Given the description of an element on the screen output the (x, y) to click on. 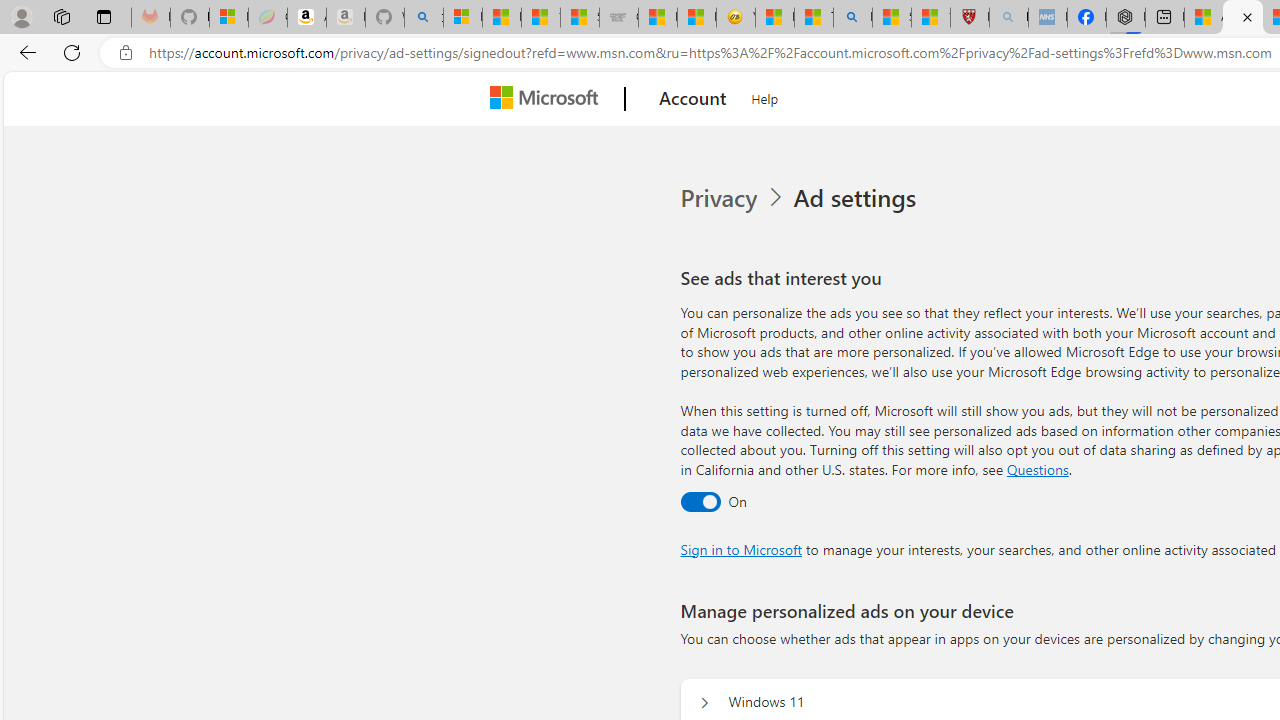
Combat Siege (618, 17)
Nordace - Nordace Siena Is Not An Ordinary Backpack (1126, 17)
12 Popular Science Lies that Must be Corrected (930, 17)
NCL Adult Asthma Inhaler Choice Guideline - Sleeping (1048, 17)
Ad settings toggle (699, 501)
Manage personalized ads on your device Windows 11 (704, 702)
New tab (1164, 17)
Tab actions menu (104, 16)
Workspaces (61, 16)
Microsoft Start (696, 17)
Close tab (1247, 16)
Microsoft-Report a Concern to Bing (228, 17)
